Given the description of an element on the screen output the (x, y) to click on. 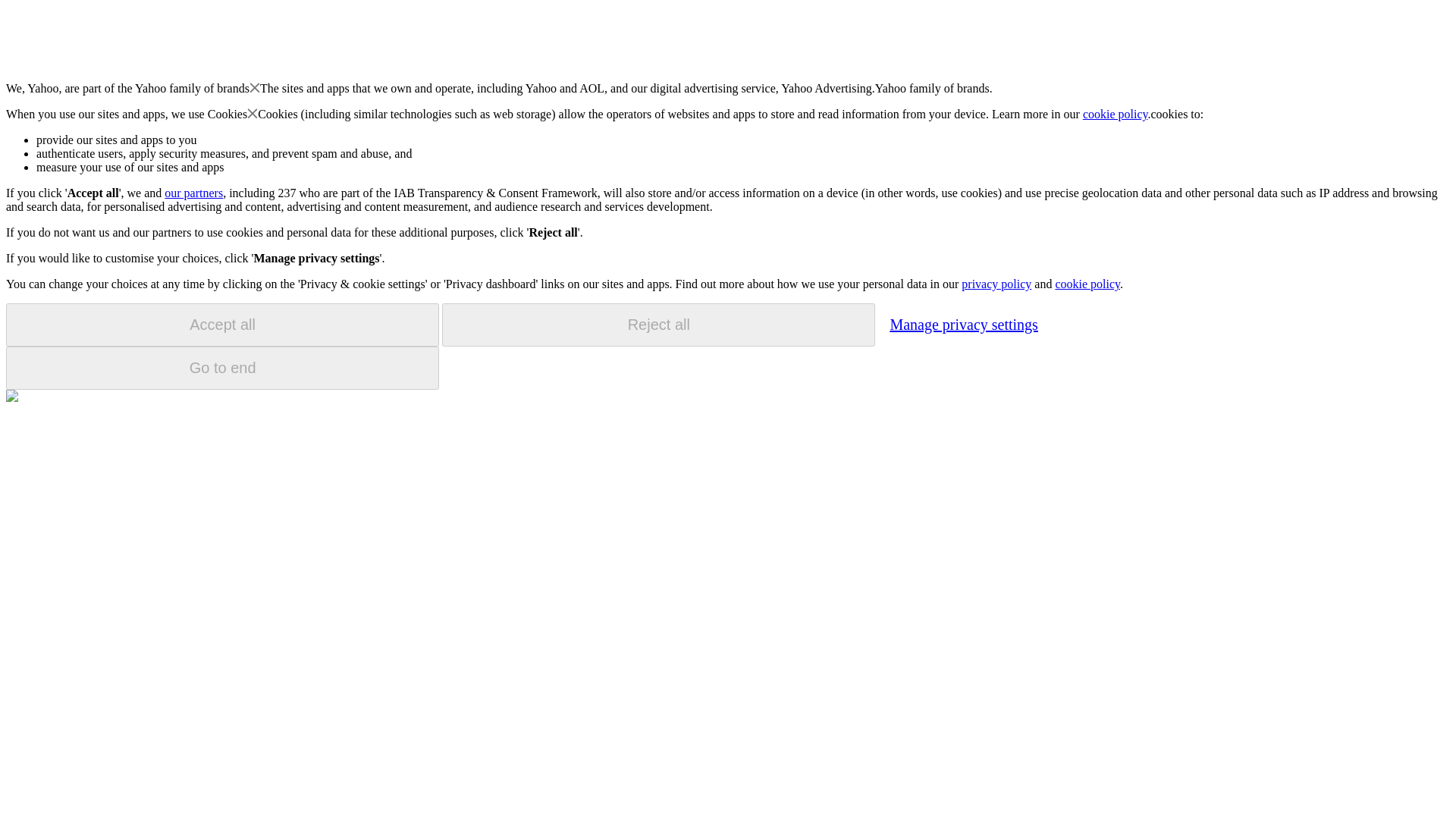
privacy policy (995, 283)
our partners (193, 192)
cookie policy (1115, 113)
Manage privacy settings (963, 323)
Accept all (222, 324)
cookie policy (1086, 283)
Go to end (222, 367)
Reject all (658, 324)
